Given the description of an element on the screen output the (x, y) to click on. 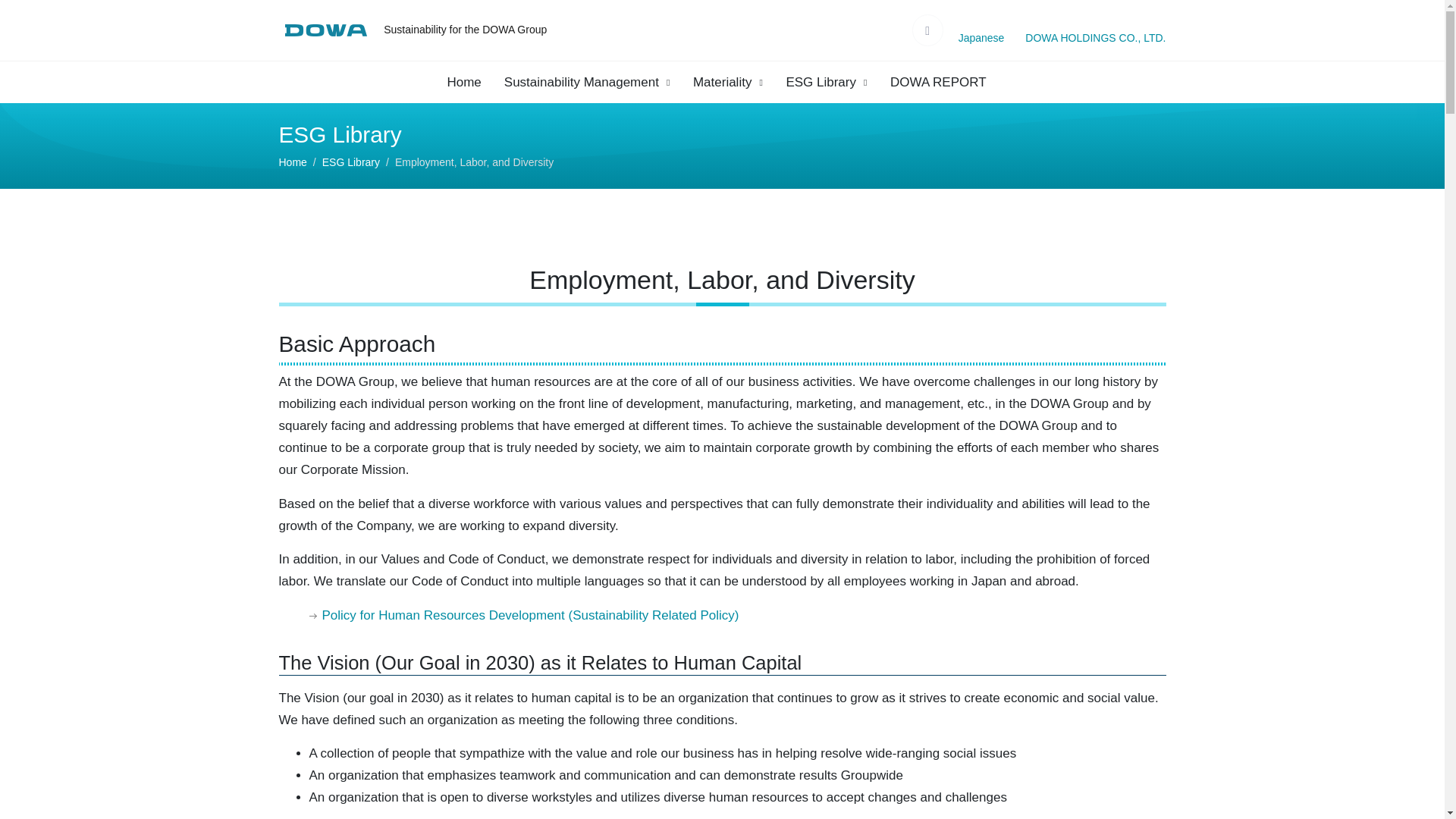
ESG Library (826, 82)
Japanese (981, 37)
Sustainability for the DOWA Group (465, 29)
ESG Library (350, 162)
Home (469, 82)
DOWA REPORT (938, 82)
Home (293, 162)
DOWA HOLDINGS CO., LTD. (1095, 37)
Materiality (727, 82)
Sustainability Management (587, 82)
